Given the description of an element on the screen output the (x, y) to click on. 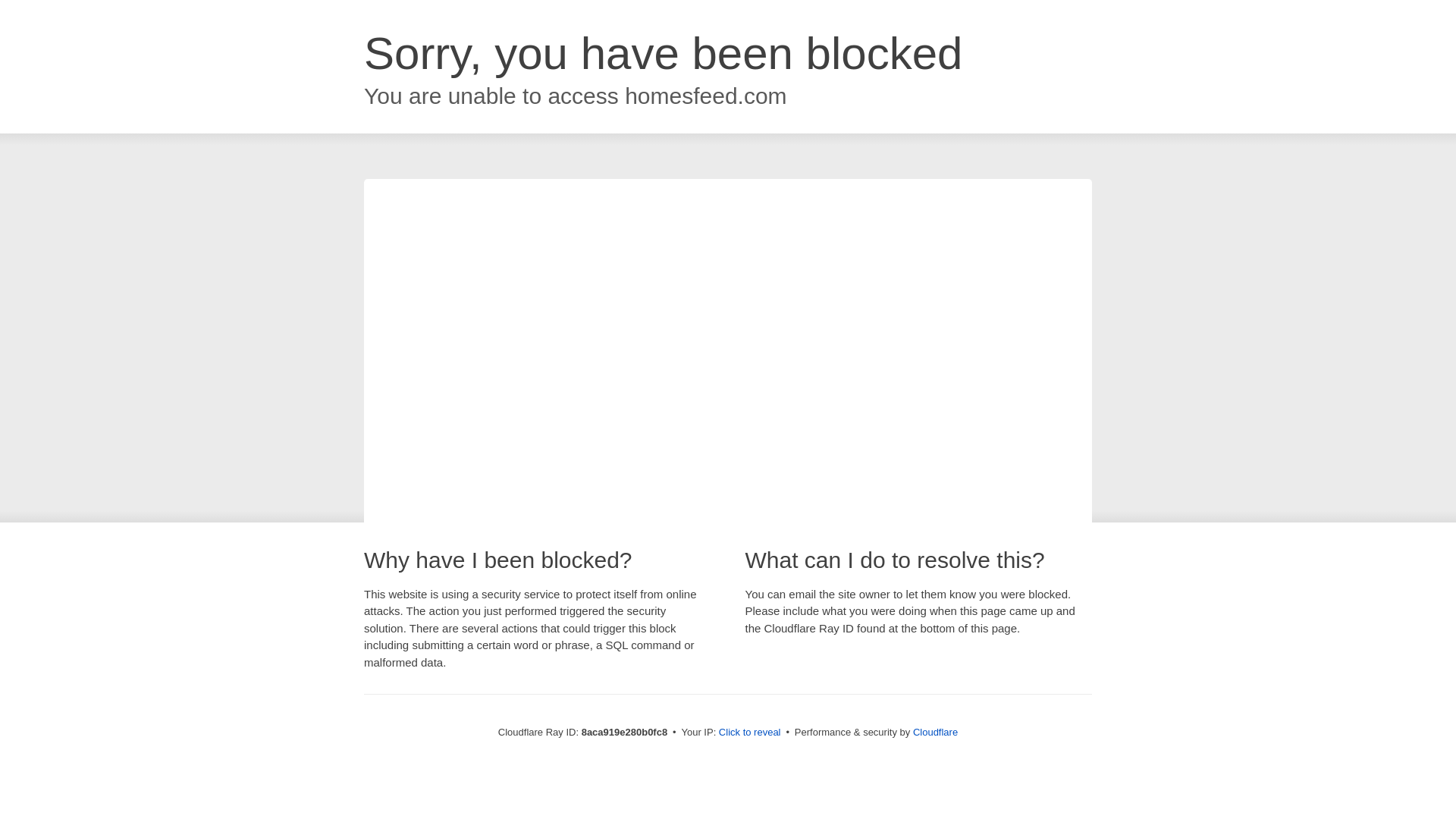
Click to reveal (749, 732)
Cloudflare (935, 731)
